Given the description of an element on the screen output the (x, y) to click on. 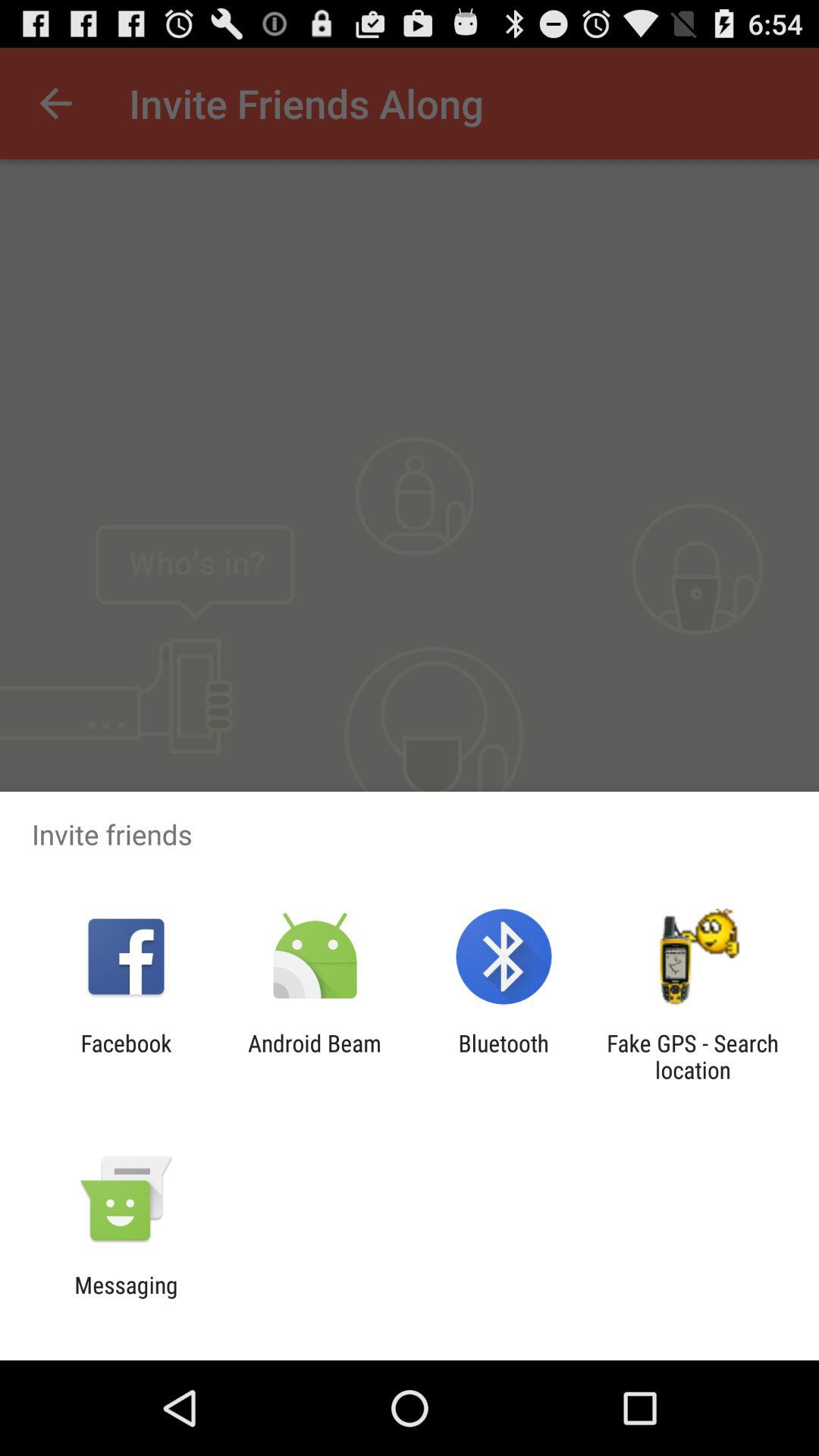
turn off messaging item (126, 1298)
